Given the description of an element on the screen output the (x, y) to click on. 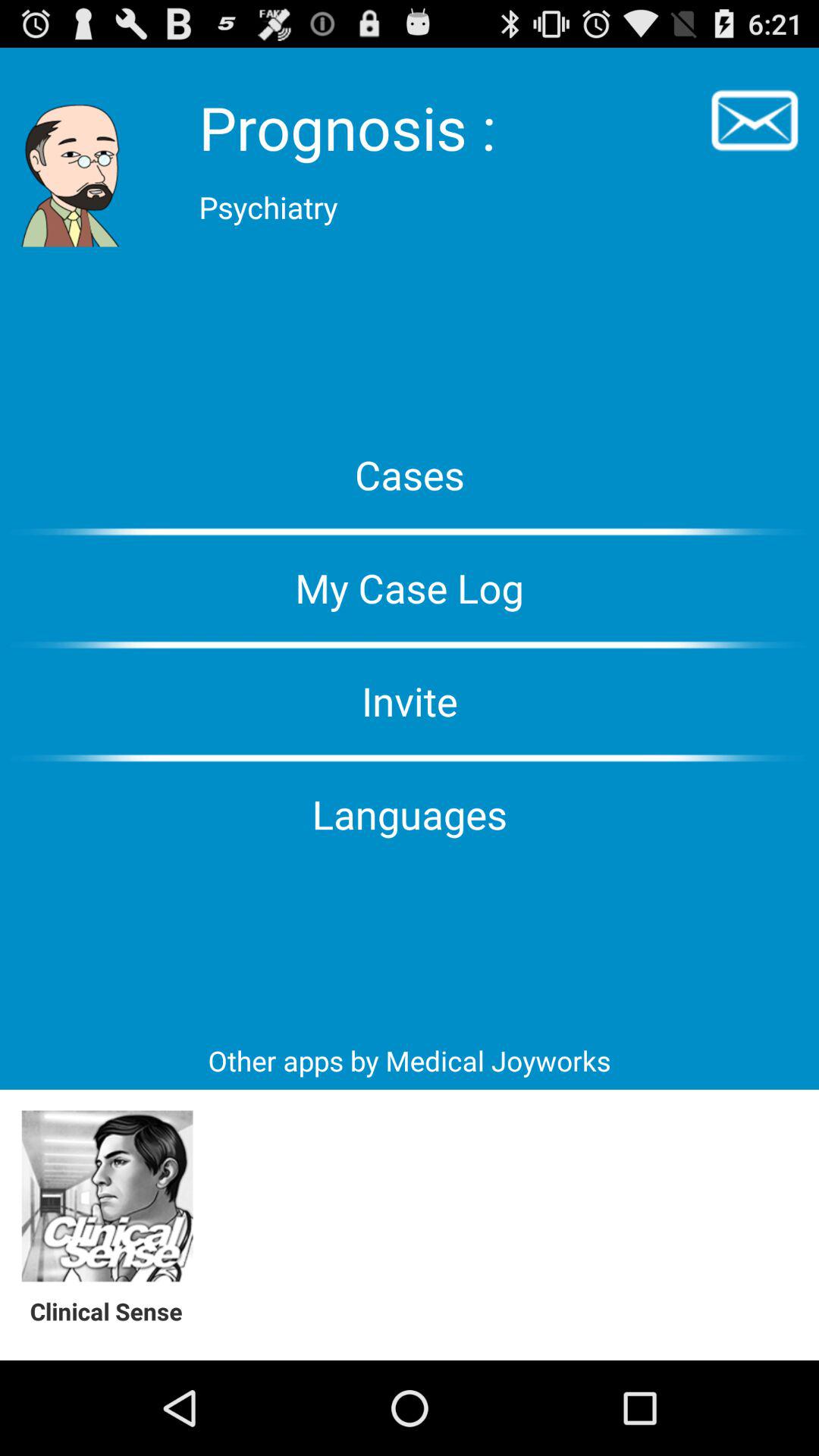
press the icon below other apps by item (107, 1196)
